Given the description of an element on the screen output the (x, y) to click on. 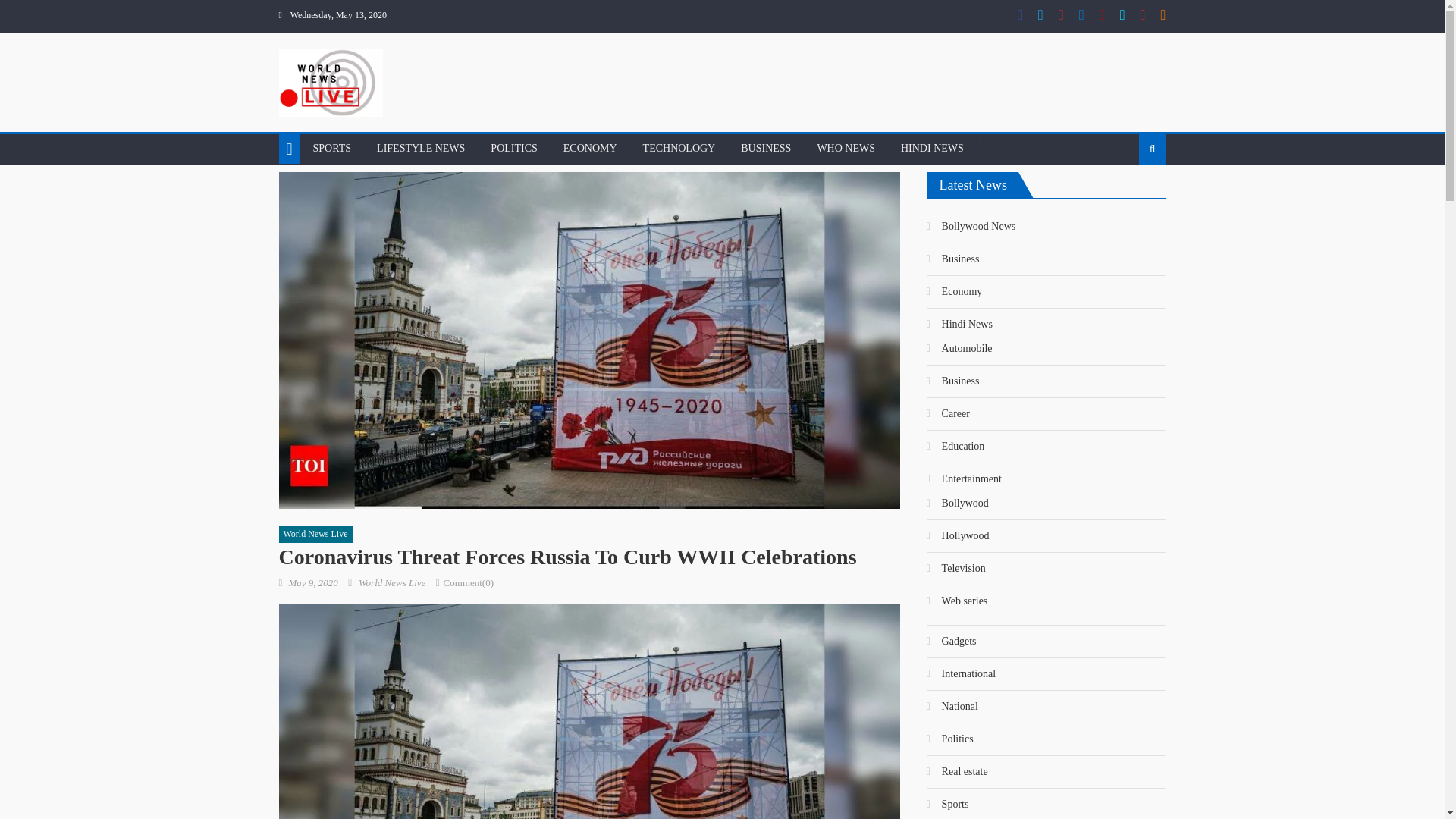
HINDI NEWS (932, 148)
Automobile News In Hindi (959, 348)
Gadgets News In Hindi (951, 641)
Politics News in Hindi (950, 739)
WHO NEWS (845, 148)
Television News In Hindi (955, 568)
Hindi News (959, 324)
Business News In Hindi (952, 381)
ECONOMY (589, 148)
Education News In Hindi (955, 446)
